Given the description of an element on the screen output the (x, y) to click on. 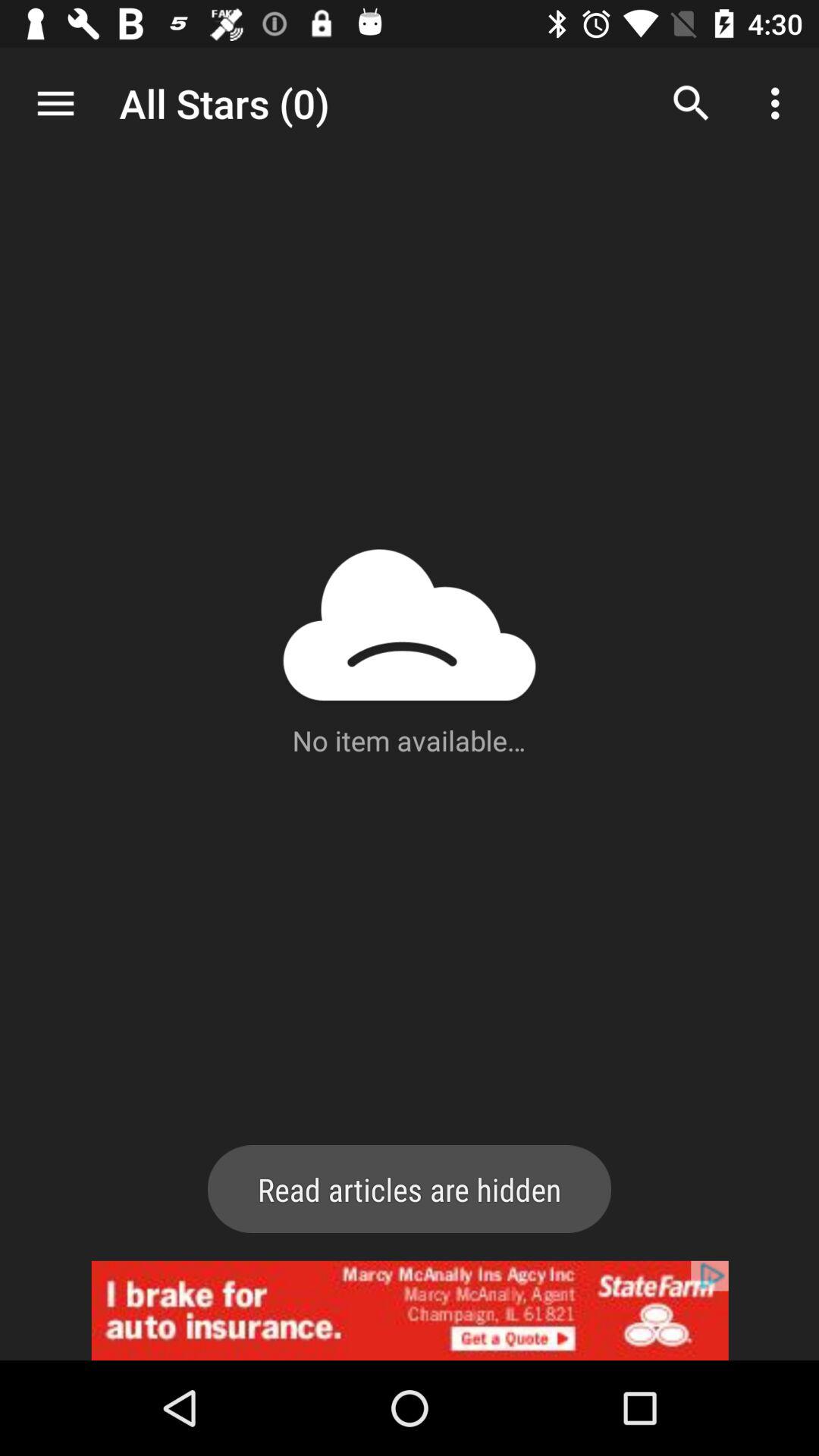
advertisement (409, 1310)
